Given the description of an element on the screen output the (x, y) to click on. 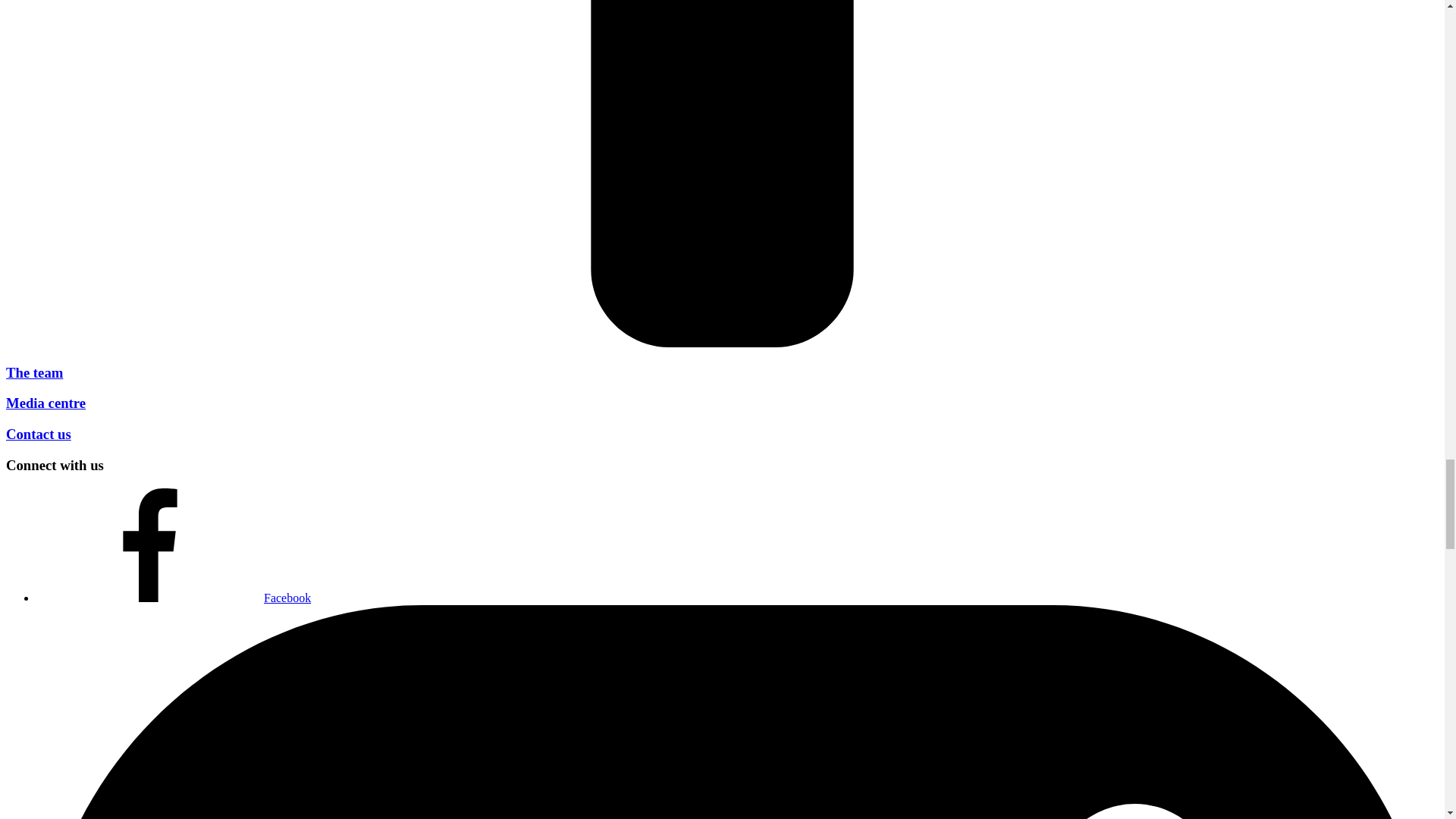
Facebook (173, 597)
Media centre (45, 402)
The team (33, 372)
Contact us (38, 433)
